Given the description of an element on the screen output the (x, y) to click on. 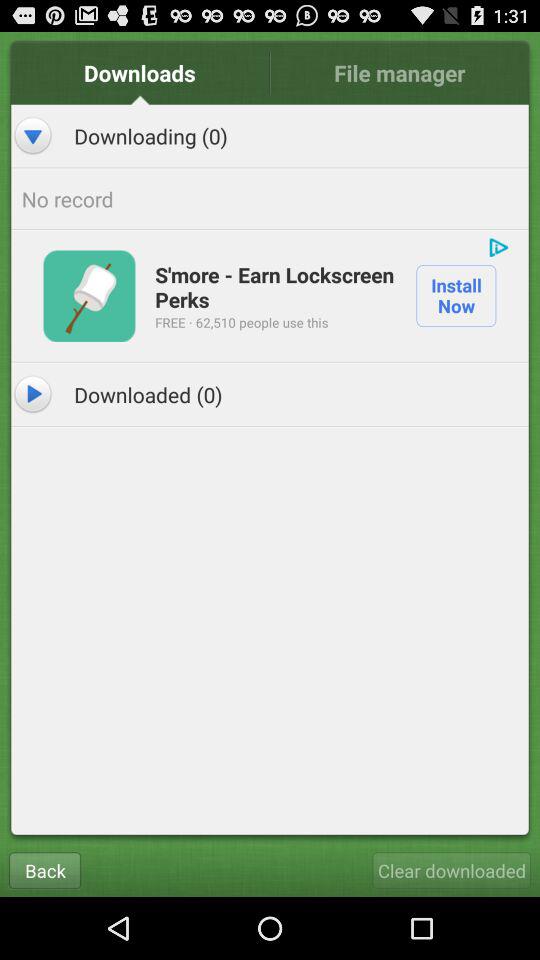
open the app below no record (89, 295)
